Given the description of an element on the screen output the (x, y) to click on. 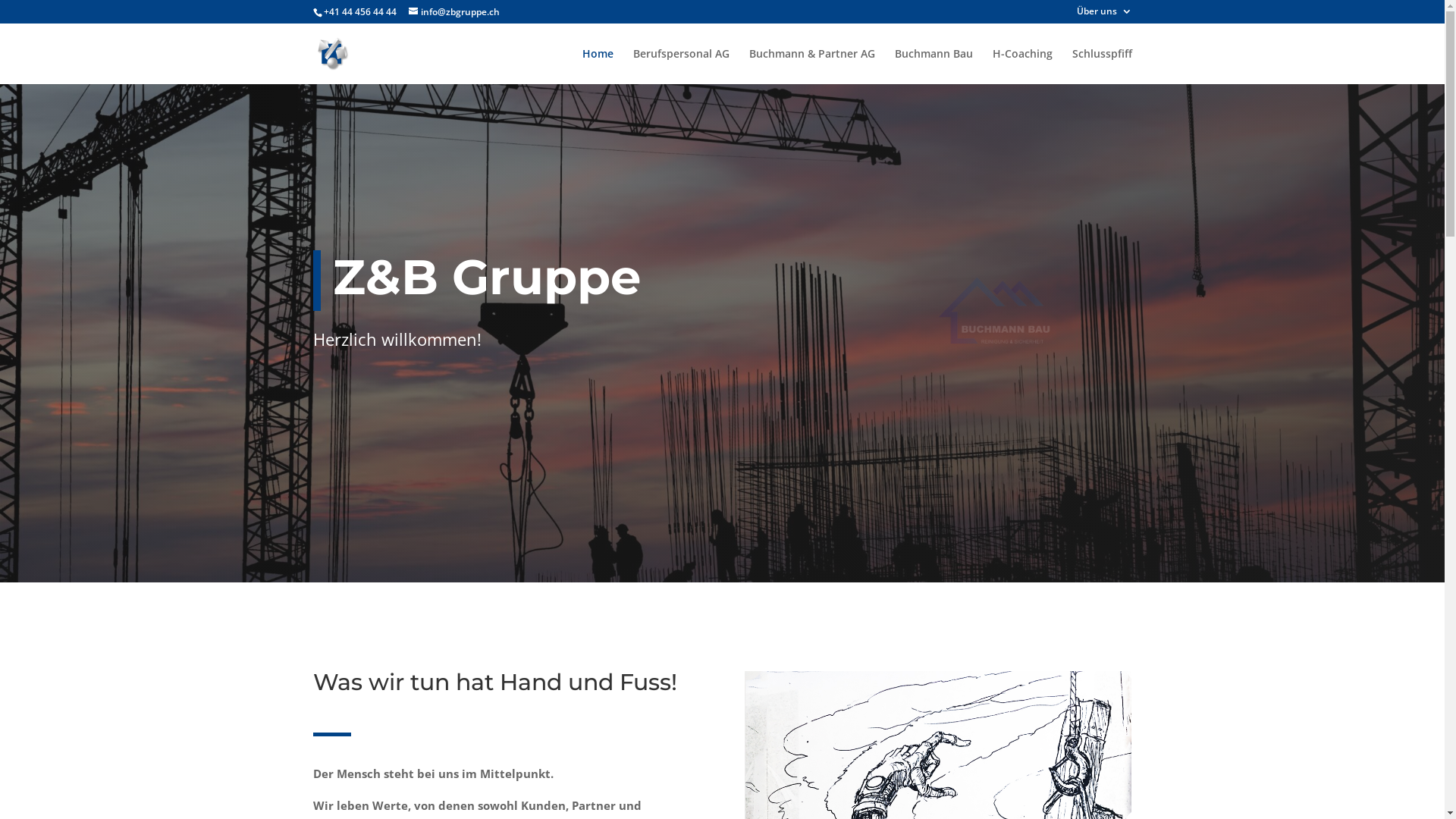
Buchmann Bau Element type: text (933, 66)
Home Element type: text (597, 66)
Berufspersonal AG Element type: text (680, 66)
Buchmann & Partner AG Element type: text (812, 66)
H-Coaching Element type: text (1021, 66)
Schlusspfiff Element type: text (1102, 66)
info@zbgruppe.ch Element type: text (452, 11)
